Given the description of an element on the screen output the (x, y) to click on. 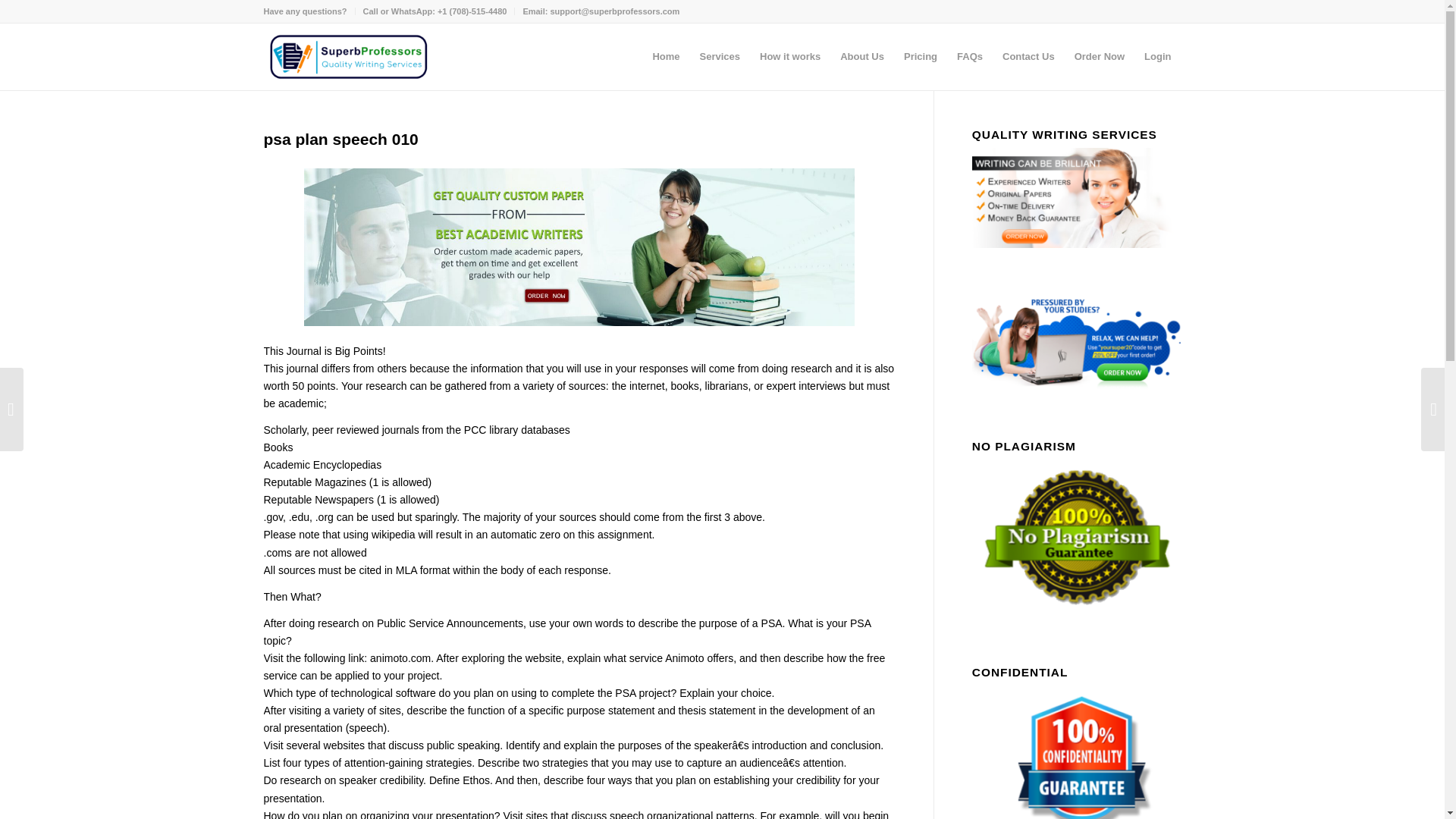
psa plan speech 010 (341, 139)
How it works (789, 56)
Permanent Link: psa plan speech 010 (341, 139)
Order Now (1099, 56)
About Us (861, 56)
Services (720, 56)
Contact Us (1028, 56)
Have any questions? (305, 11)
